Given the description of an element on the screen output the (x, y) to click on. 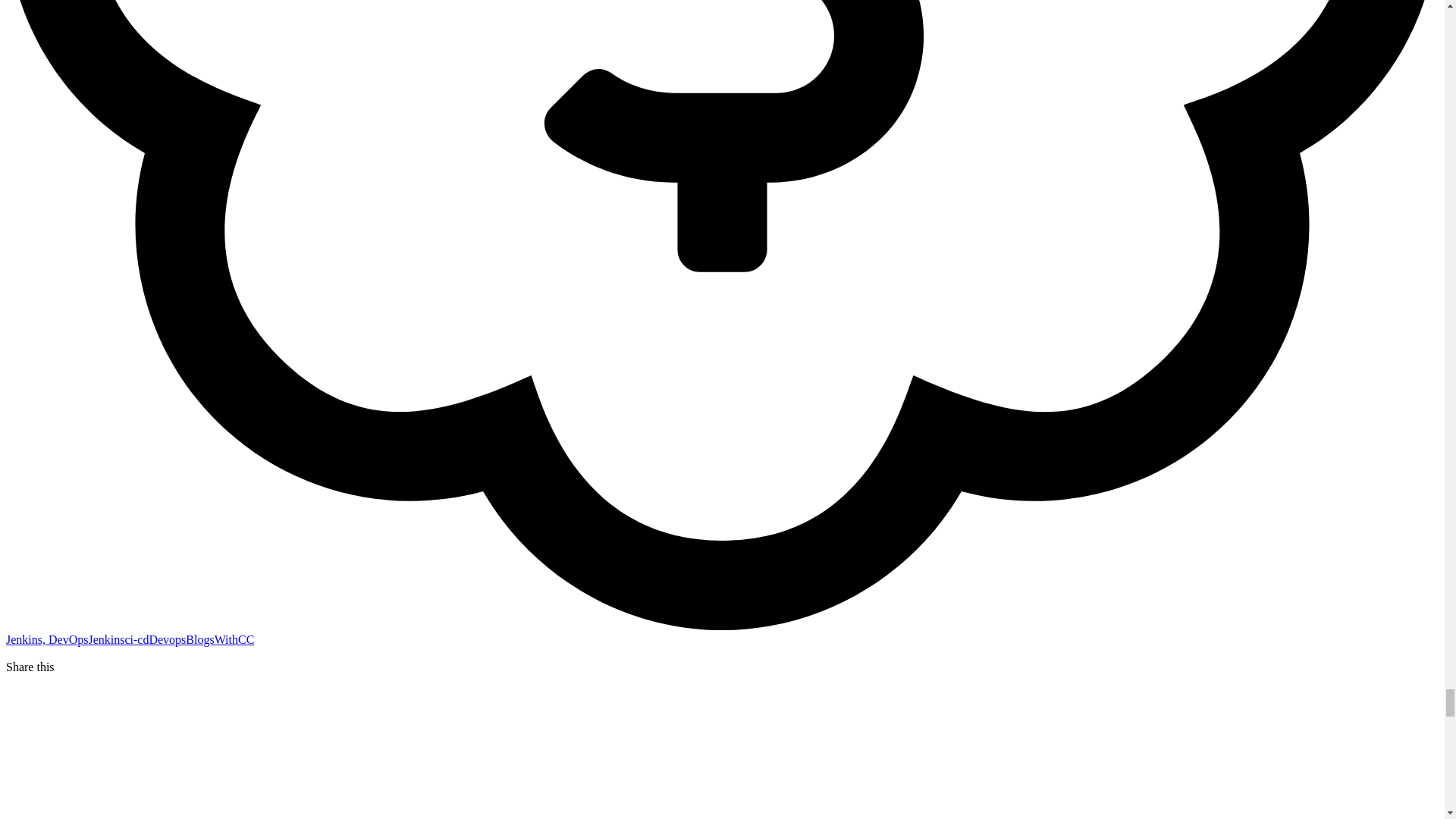
ci-cd (135, 639)
Jenkins, DevOps (46, 639)
BlogsWithCC (219, 639)
Jenkins (105, 639)
Devops (167, 639)
